Given the description of an element on the screen output the (x, y) to click on. 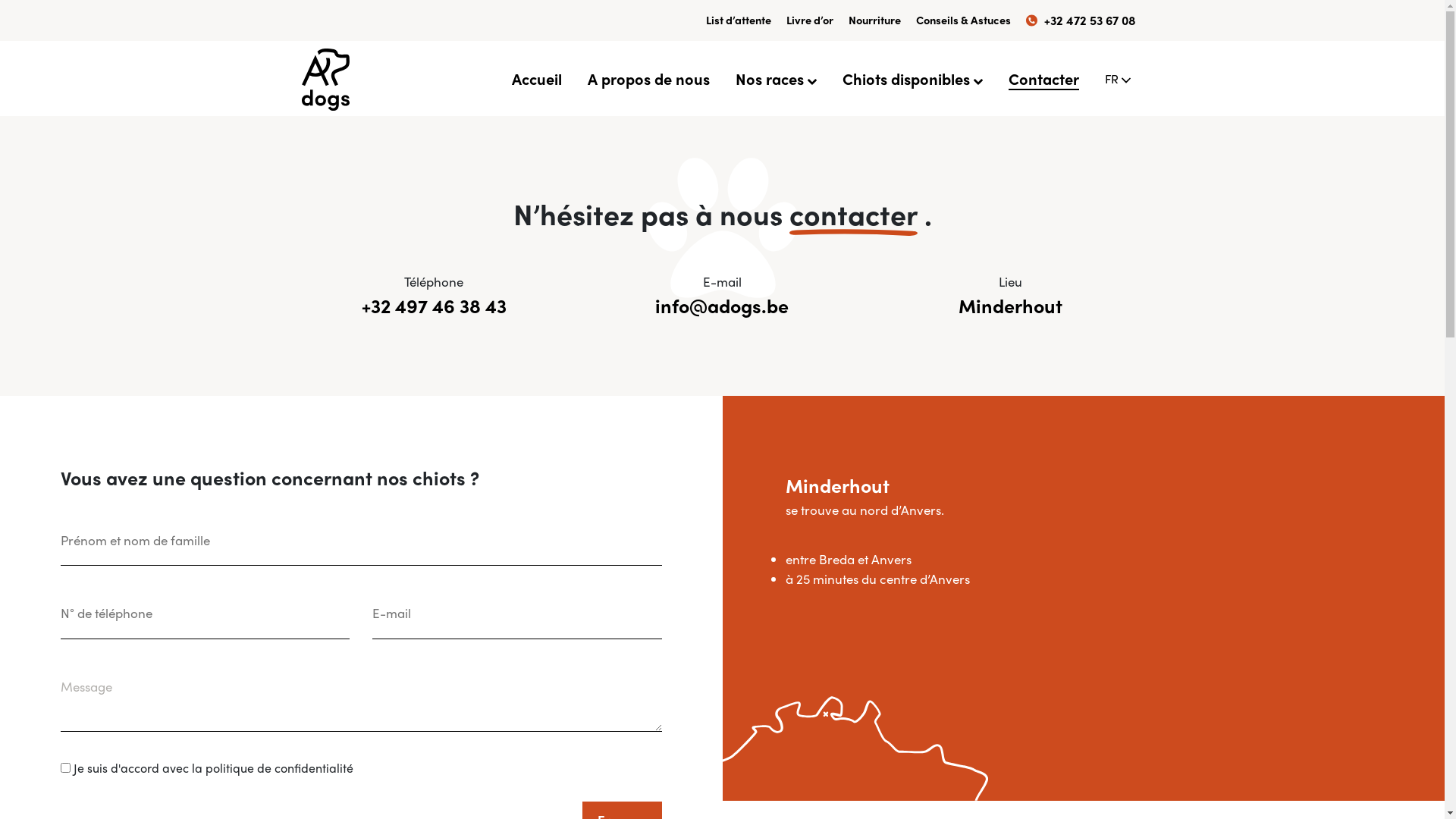
Conseils & Astuces Element type: text (963, 19)
Adogs logo Element type: hover (325, 78)
Nourriture Element type: text (873, 19)
FR Element type: text (1116, 78)
Accueil Element type: text (536, 77)
Nos races Element type: text (775, 77)
Contacter Element type: text (1043, 77)
+32 497 46 38 43 Element type: text (433, 305)
A propos de nous Element type: text (647, 77)
info@adogs.be Element type: text (721, 305)
Chiots disponibles Element type: text (911, 77)
+32 472 53 67 08 Element type: text (1079, 20)
Minderhout Element type: text (1010, 305)
